Given the description of an element on the screen output the (x, y) to click on. 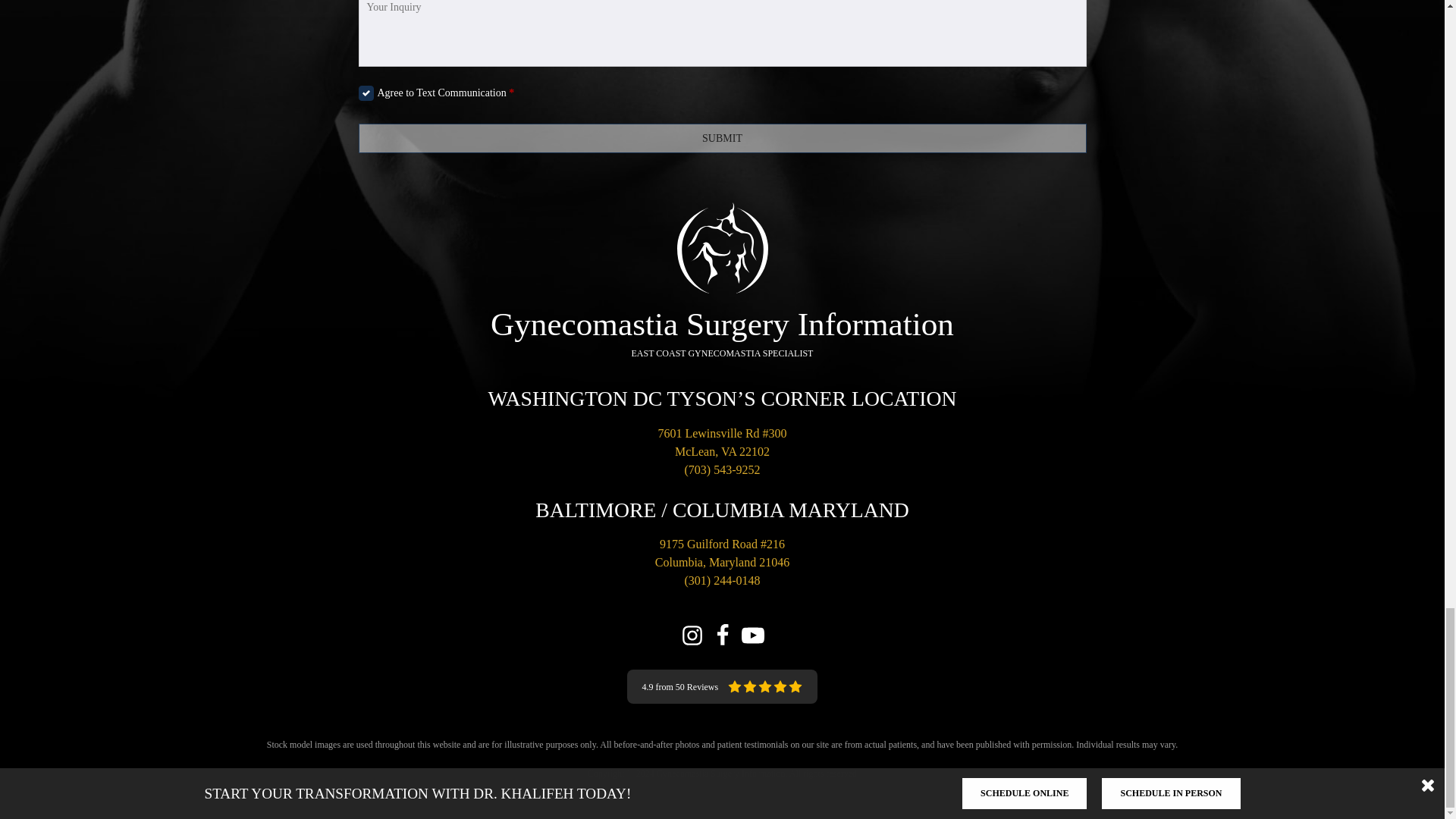
SUBMIT (722, 138)
4.9 from 50 Reviews (721, 686)
Google Reviews (721, 686)
